Given the description of an element on the screen output the (x, y) to click on. 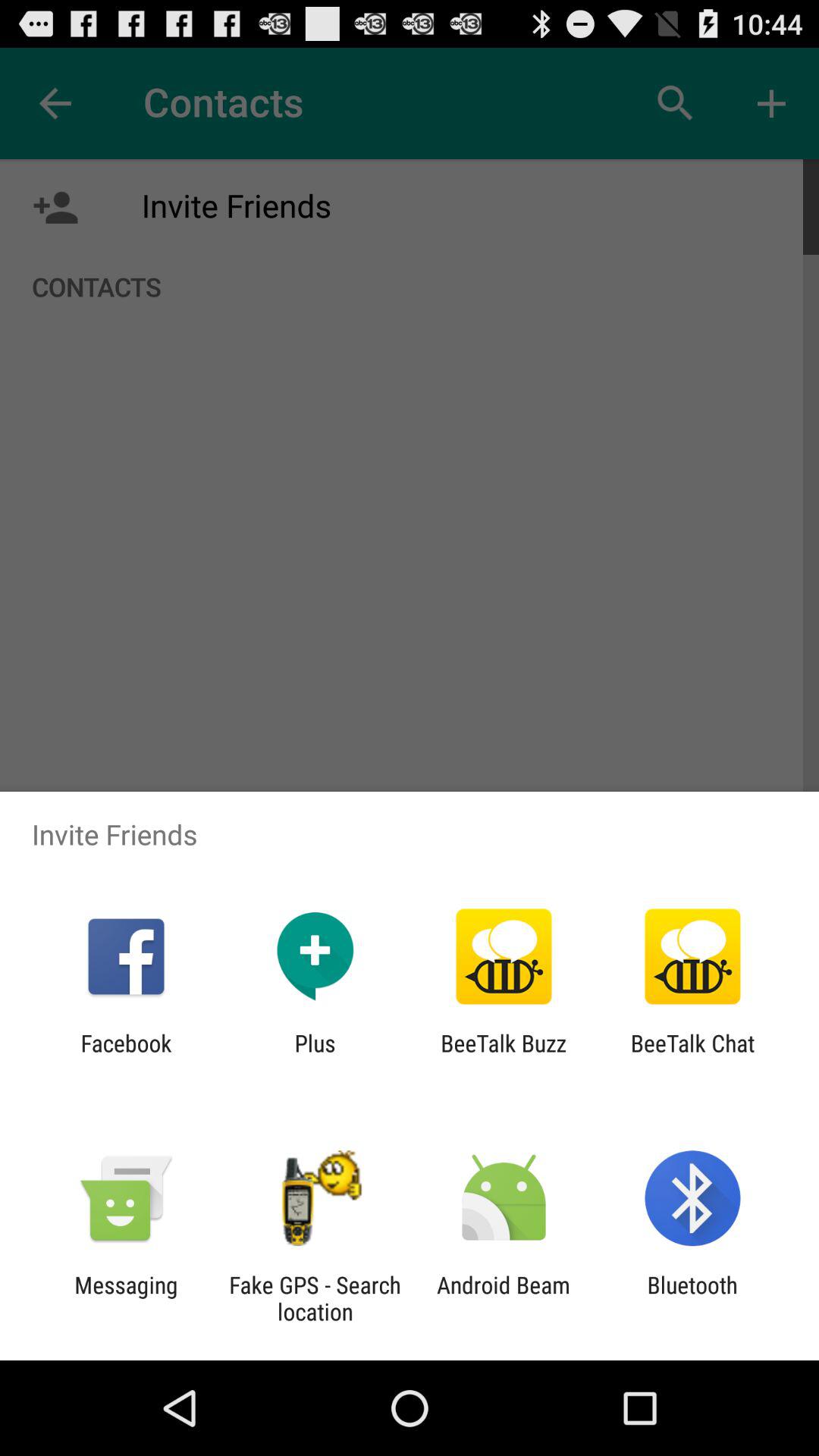
click the app to the right of the beetalk buzz (692, 1056)
